Given the description of an element on the screen output the (x, y) to click on. 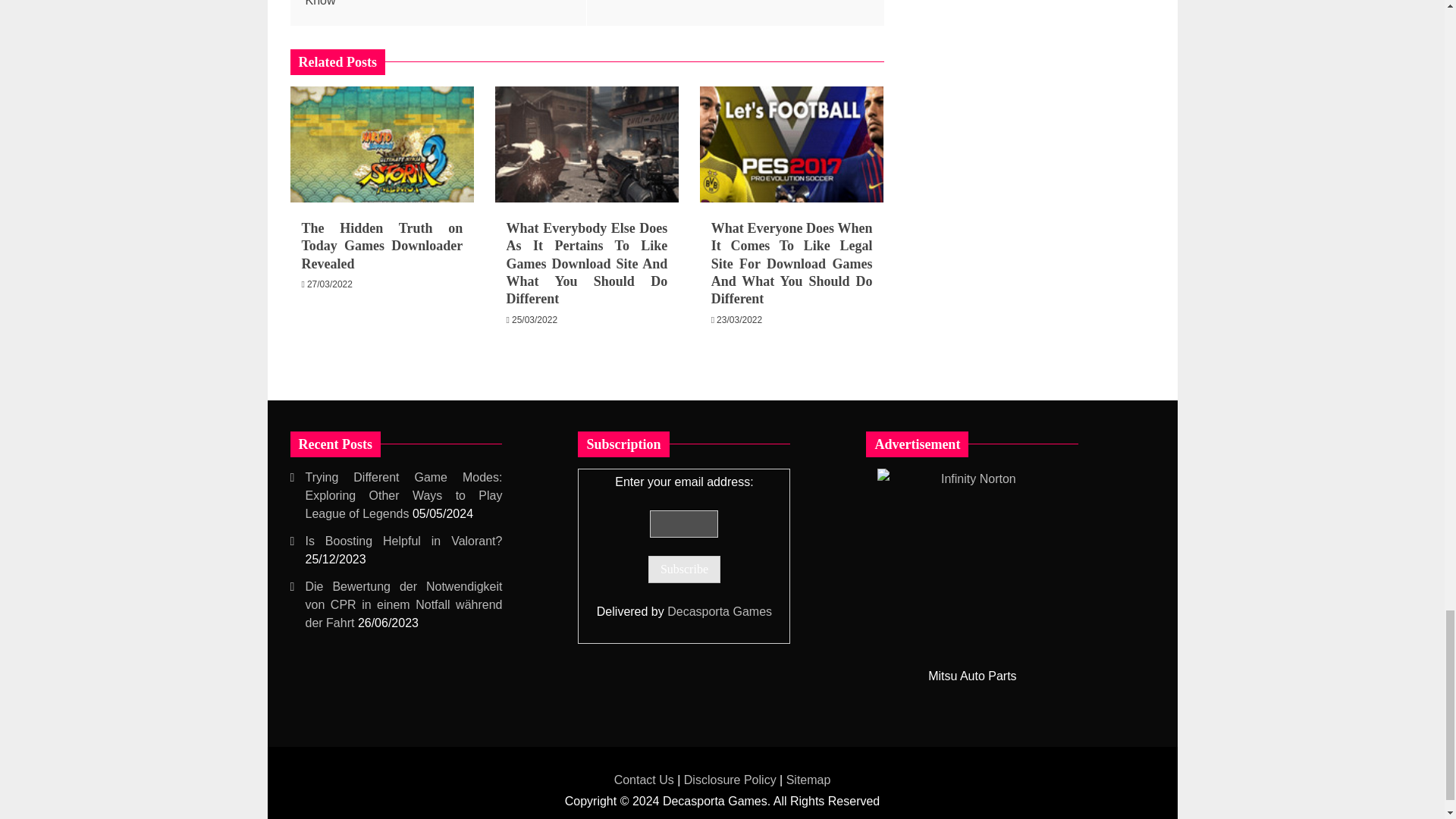
The Hidden Truth on Today Games Downloader Revealed (381, 144)
The Hidden Truth on Today Games Downloader Revealed (382, 245)
Subscribe (683, 569)
